Given the description of an element on the screen output the (x, y) to click on. 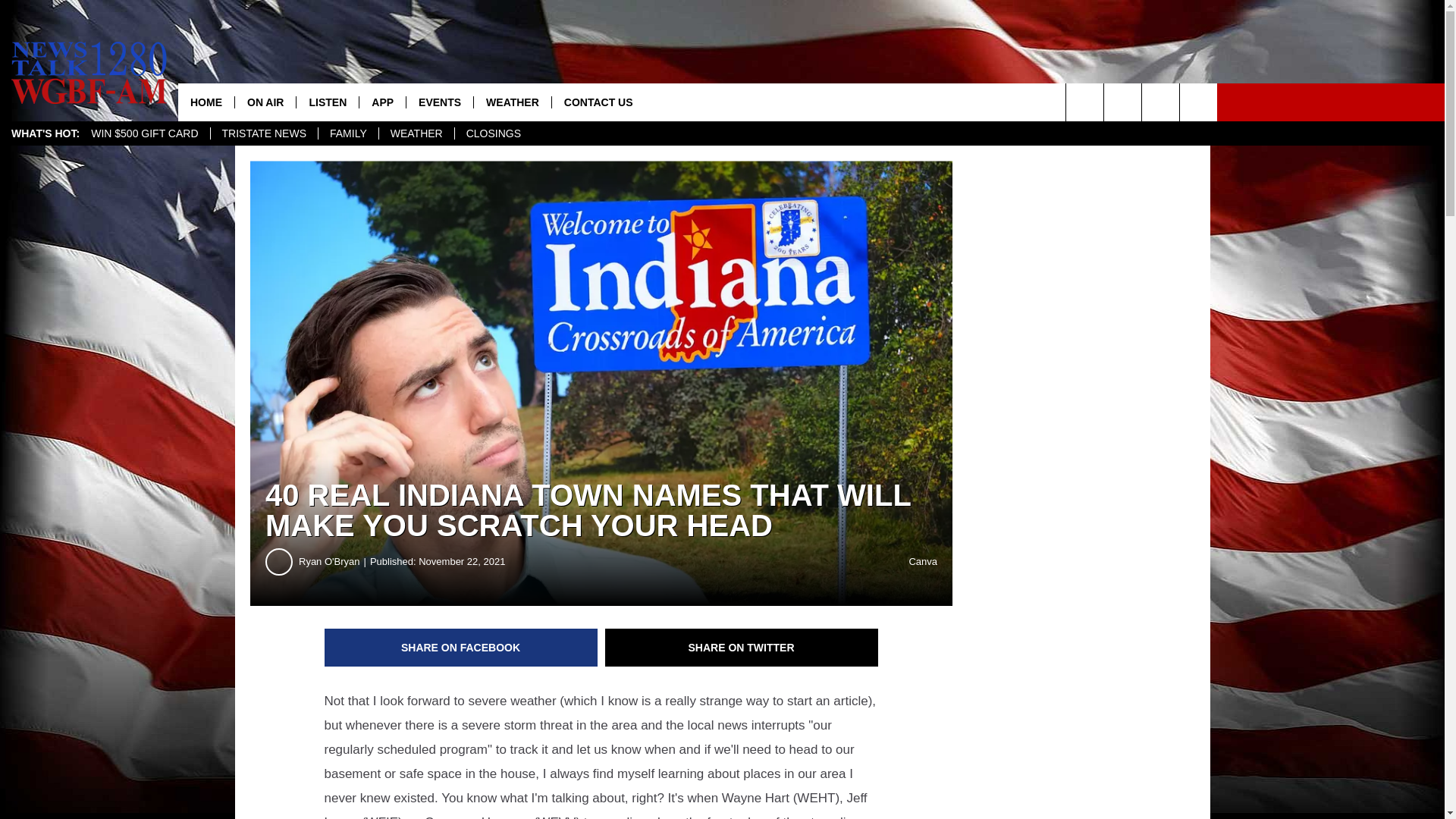
HOME (205, 102)
LISTEN (326, 102)
EVENTS (439, 102)
TRISTATE NEWS (263, 133)
Share on Facebook (460, 647)
FAMILY (347, 133)
Share on Twitter (741, 647)
ON AIR (264, 102)
WEATHER (416, 133)
APP (382, 102)
